Given the description of an element on the screen output the (x, y) to click on. 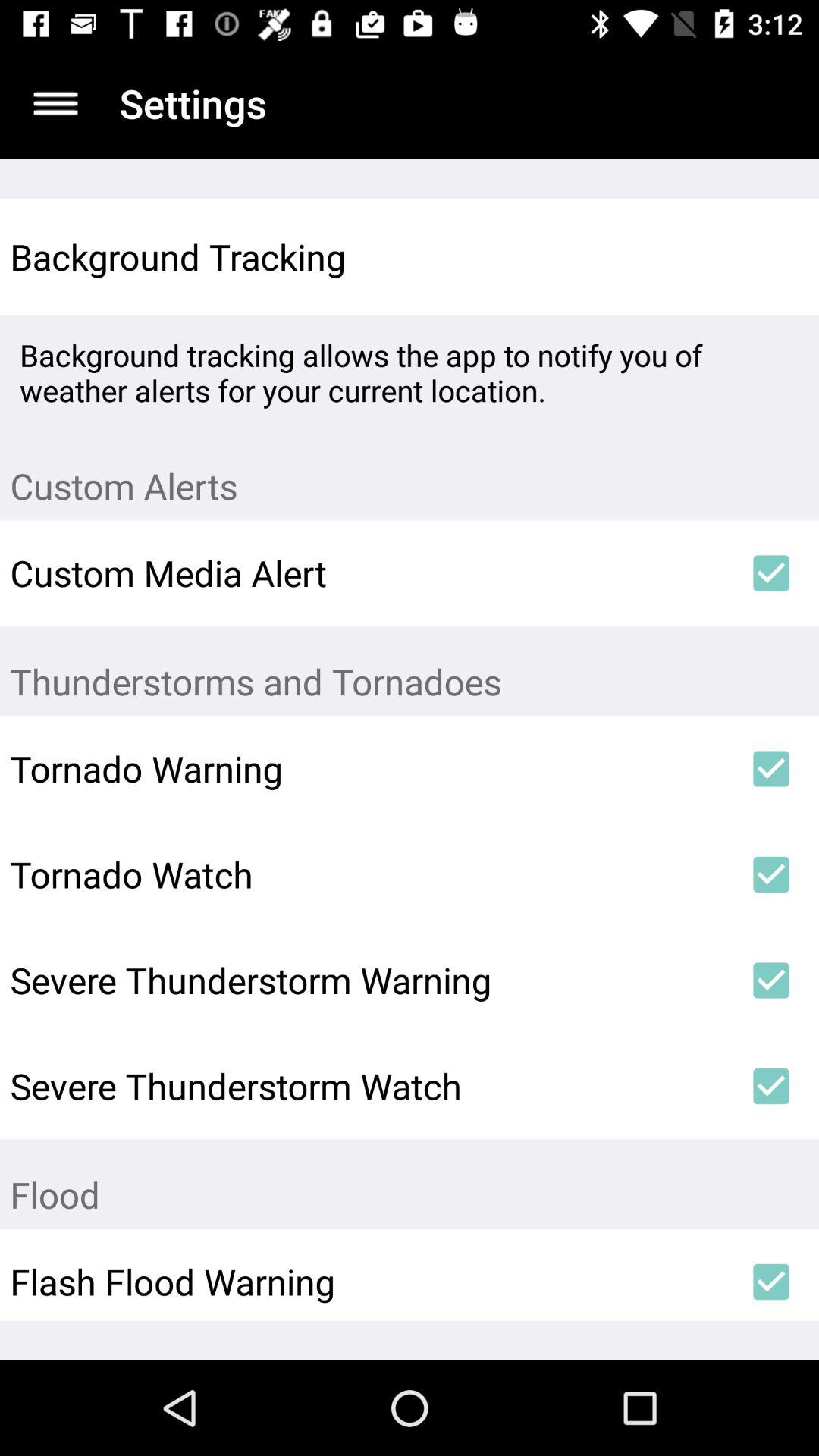
open item to the right of the background tracking (771, 256)
